Given the description of an element on the screen output the (x, y) to click on. 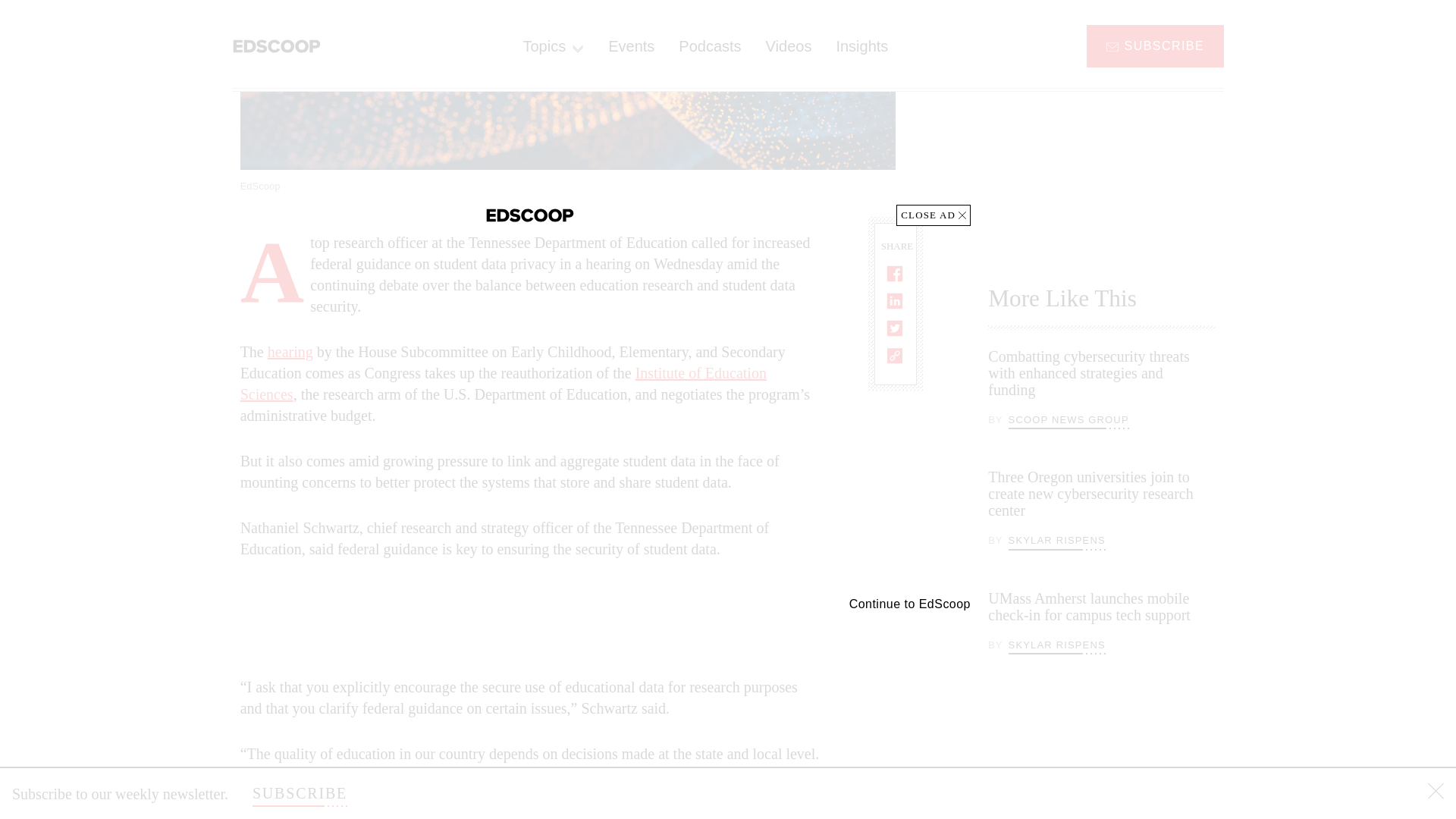
3rd party ad content (1101, 123)
